Given the description of an element on the screen output the (x, y) to click on. 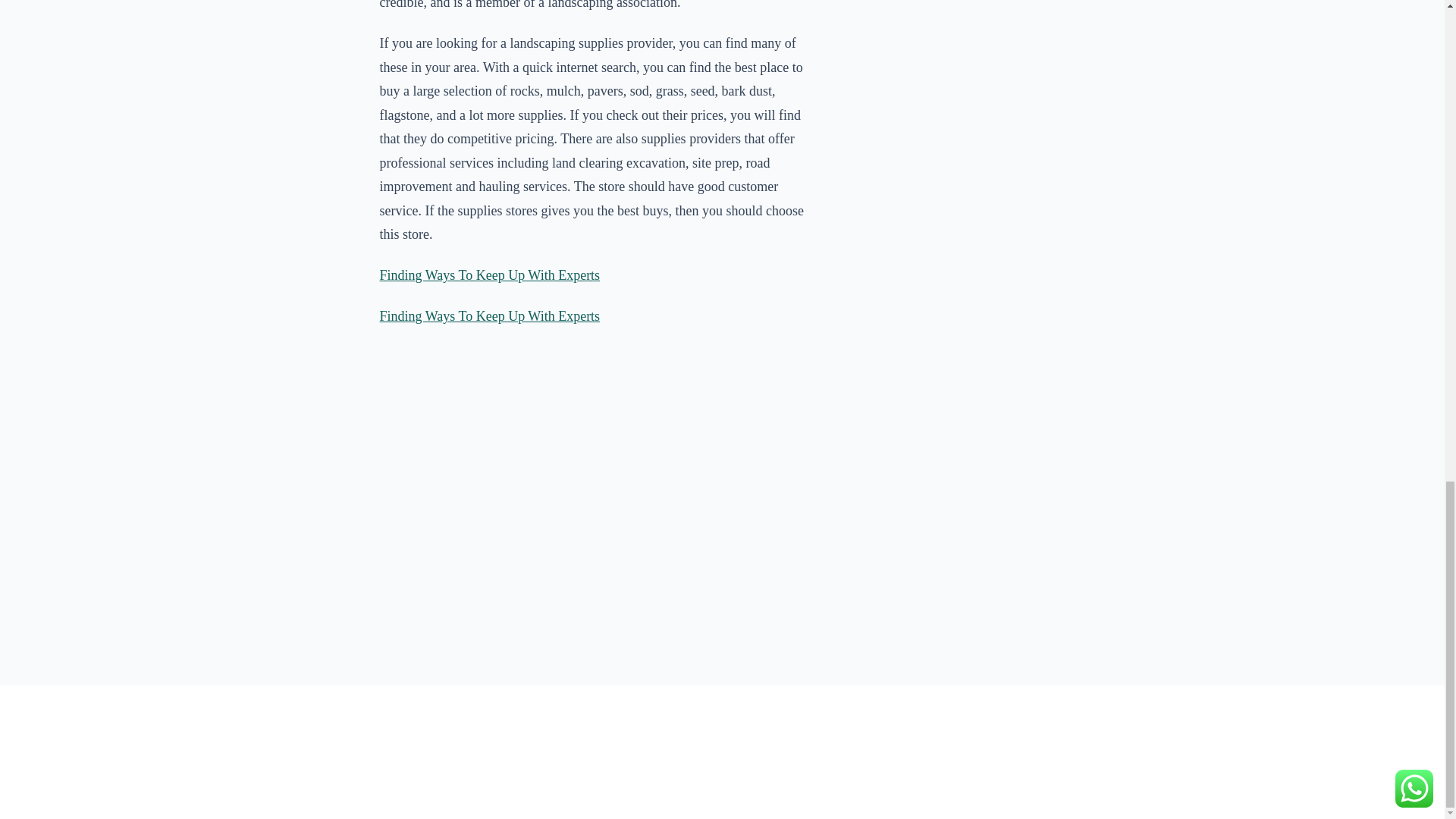
Finding Ways To Keep Up With Experts (489, 274)
Finding Ways To Keep Up With Experts (489, 315)
